Given the description of an element on the screen output the (x, y) to click on. 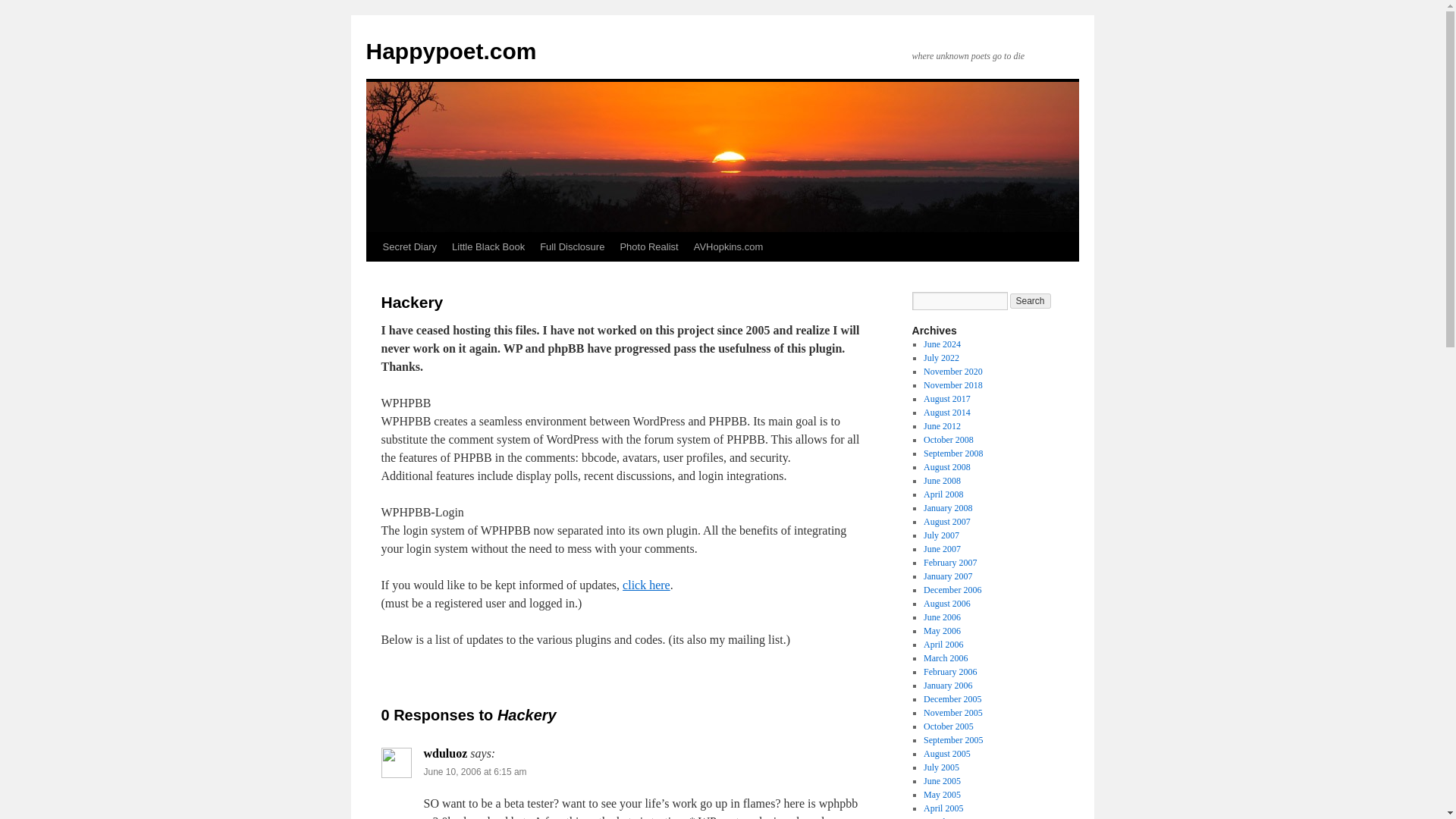
October 2008 (948, 439)
Photo Realist (648, 246)
Happypoet.com (450, 50)
June 2012 (941, 425)
November 2020 (952, 371)
click here (646, 584)
Search (1030, 300)
August 2008 (947, 466)
Secret Diary (409, 246)
AVHopkins.com (728, 246)
